Given the description of an element on the screen output the (x, y) to click on. 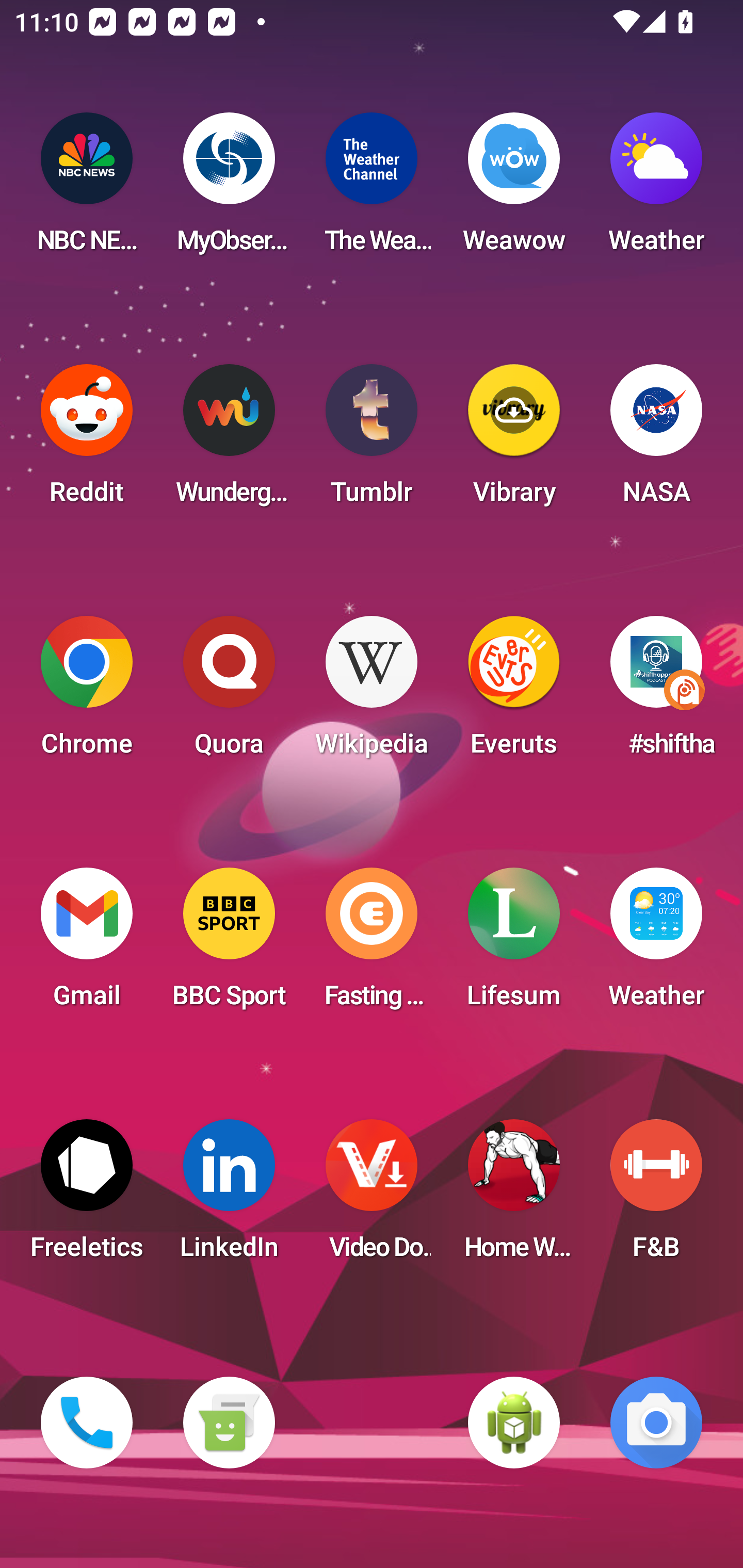
NBC NEWS (86, 188)
MyObservatory (228, 188)
The Weather Channel (371, 188)
Weawow (513, 188)
Weather (656, 188)
Reddit (86, 440)
Wunderground (228, 440)
Tumblr (371, 440)
Vibrary (513, 440)
NASA (656, 440)
Chrome (86, 692)
Quora (228, 692)
Wikipedia (371, 692)
Everuts (513, 692)
#shifthappens in the Digital Workplace Podcast (656, 692)
Gmail (86, 943)
BBC Sport (228, 943)
Fasting Coach (371, 943)
Lifesum (513, 943)
Weather (656, 943)
Freeletics (86, 1195)
LinkedIn (228, 1195)
Video Downloader & Ace Player (371, 1195)
Home Workout (513, 1195)
F&B (656, 1195)
Phone (86, 1422)
Messaging (228, 1422)
WebView Browser Tester (513, 1422)
Camera (656, 1422)
